Given the description of an element on the screen output the (x, y) to click on. 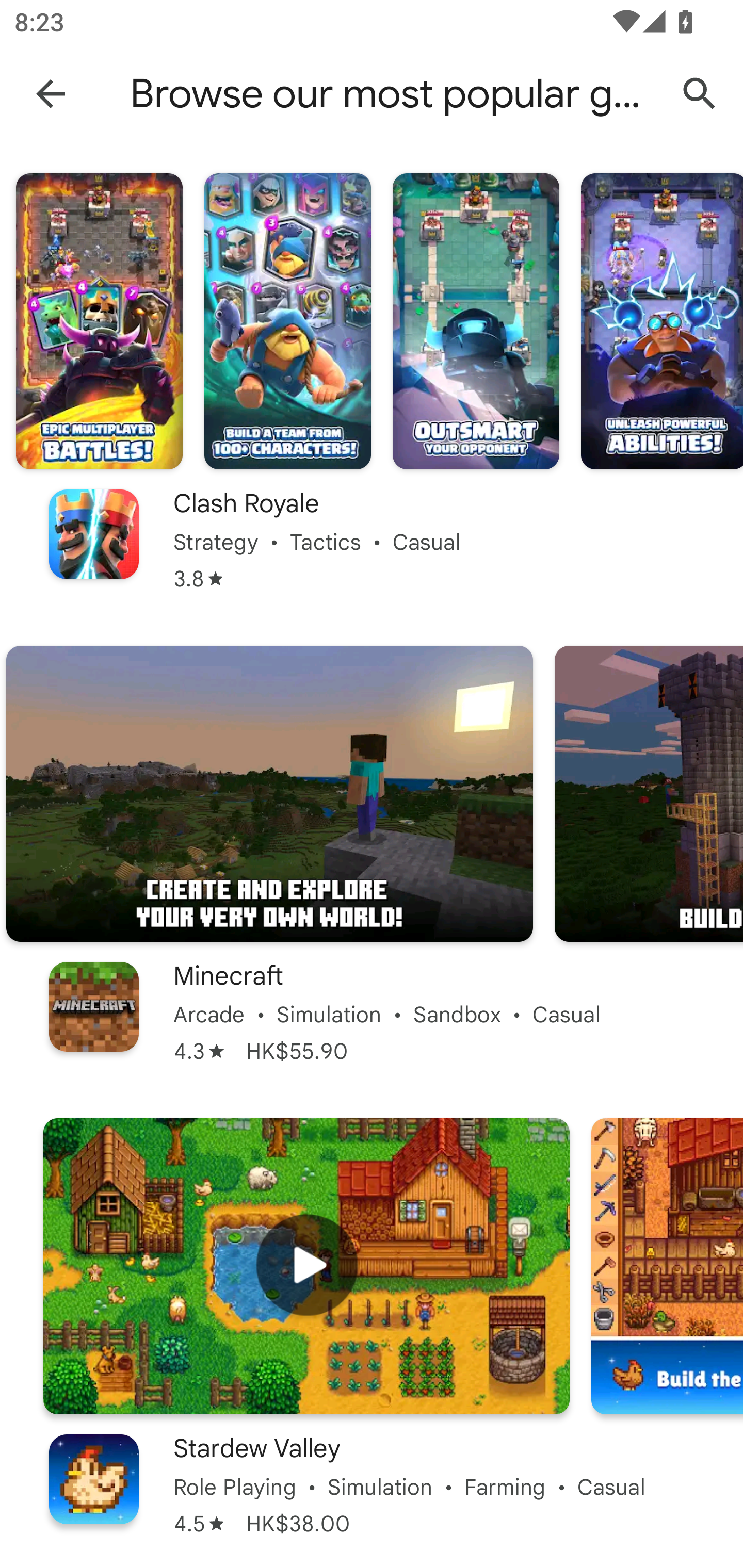
Navigate up (50, 92)
Search Google Play (699, 93)
Screenshot "1" of "8" (99, 321)
Screenshot "2" of "8" (287, 321)
Screenshot "3" of "8" (475, 321)
Screenshot "4" of "8" (662, 321)
Screenshot "1" of "8" (268, 794)
Play trailer for "Stardew Valley" (306, 1265)
